Given the description of an element on the screen output the (x, y) to click on. 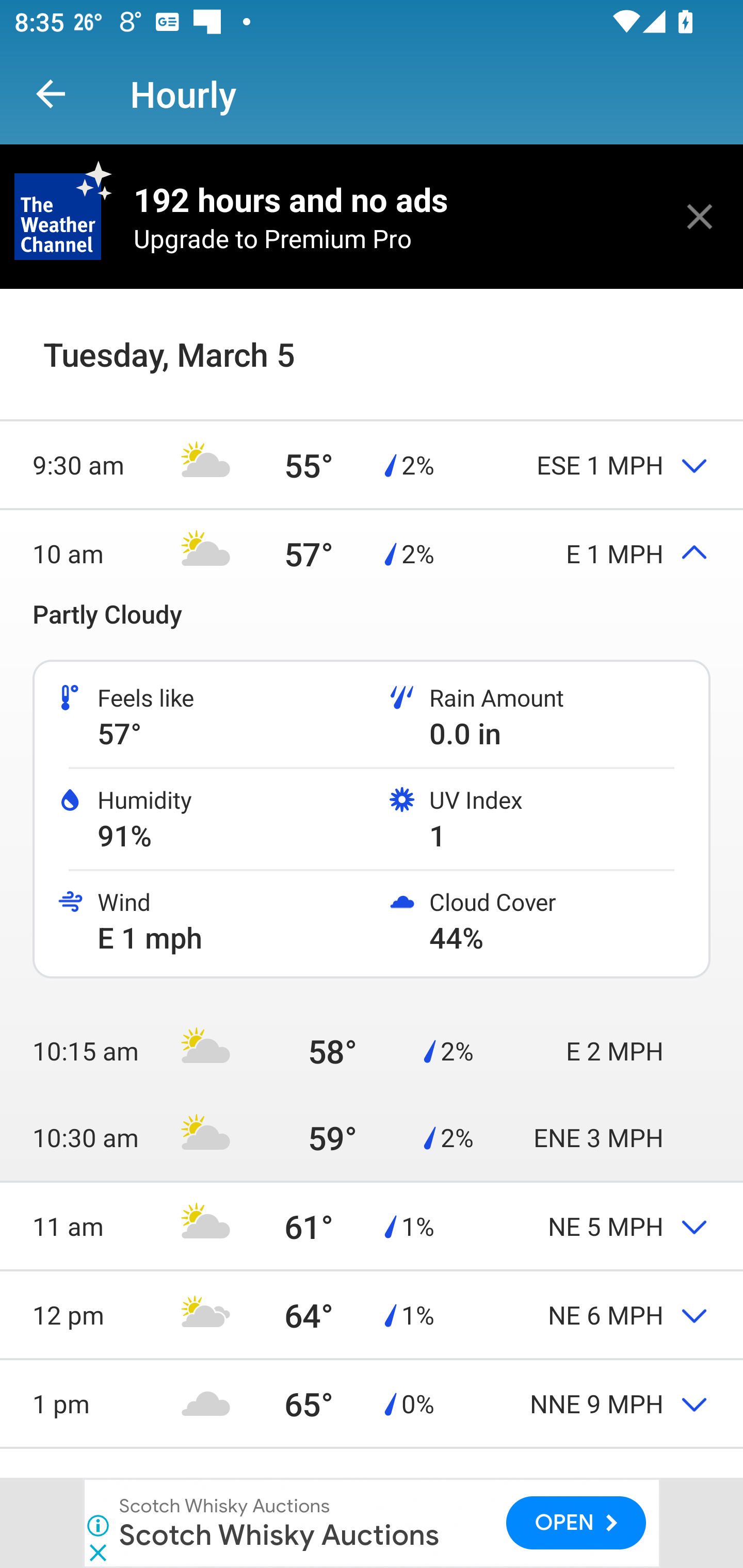
Navigate up (50, 93)
close this (699, 216)
9:30 am 55° 2% ESE 1 MPH (371, 464)
10 am 57° 2% E 1 MPH (371, 553)
11 am 61° 1% NE 5 MPH (371, 1226)
12 pm 64° 1% NE 6 MPH (371, 1314)
1 pm 65° 0% NNE 9 MPH (371, 1403)
Scotch Whisky Auctions (225, 1505)
OPEN (576, 1522)
Scotch Whisky Auctions (278, 1533)
